Given the description of an element on the screen output the (x, y) to click on. 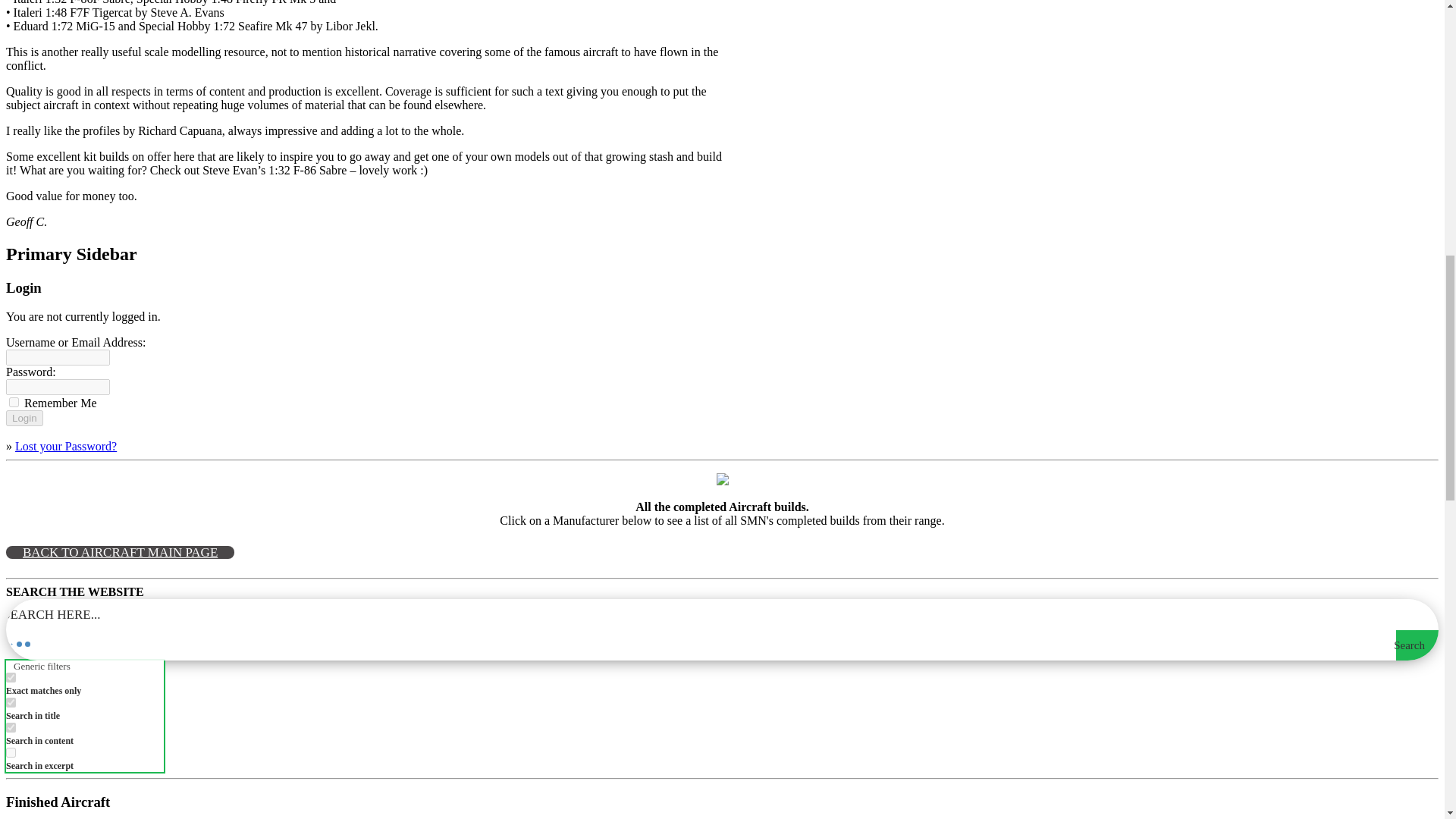
forever (13, 402)
content (10, 727)
Login (24, 417)
excerpt (10, 752)
title (10, 702)
exact (10, 677)
